Given the description of an element on the screen output the (x, y) to click on. 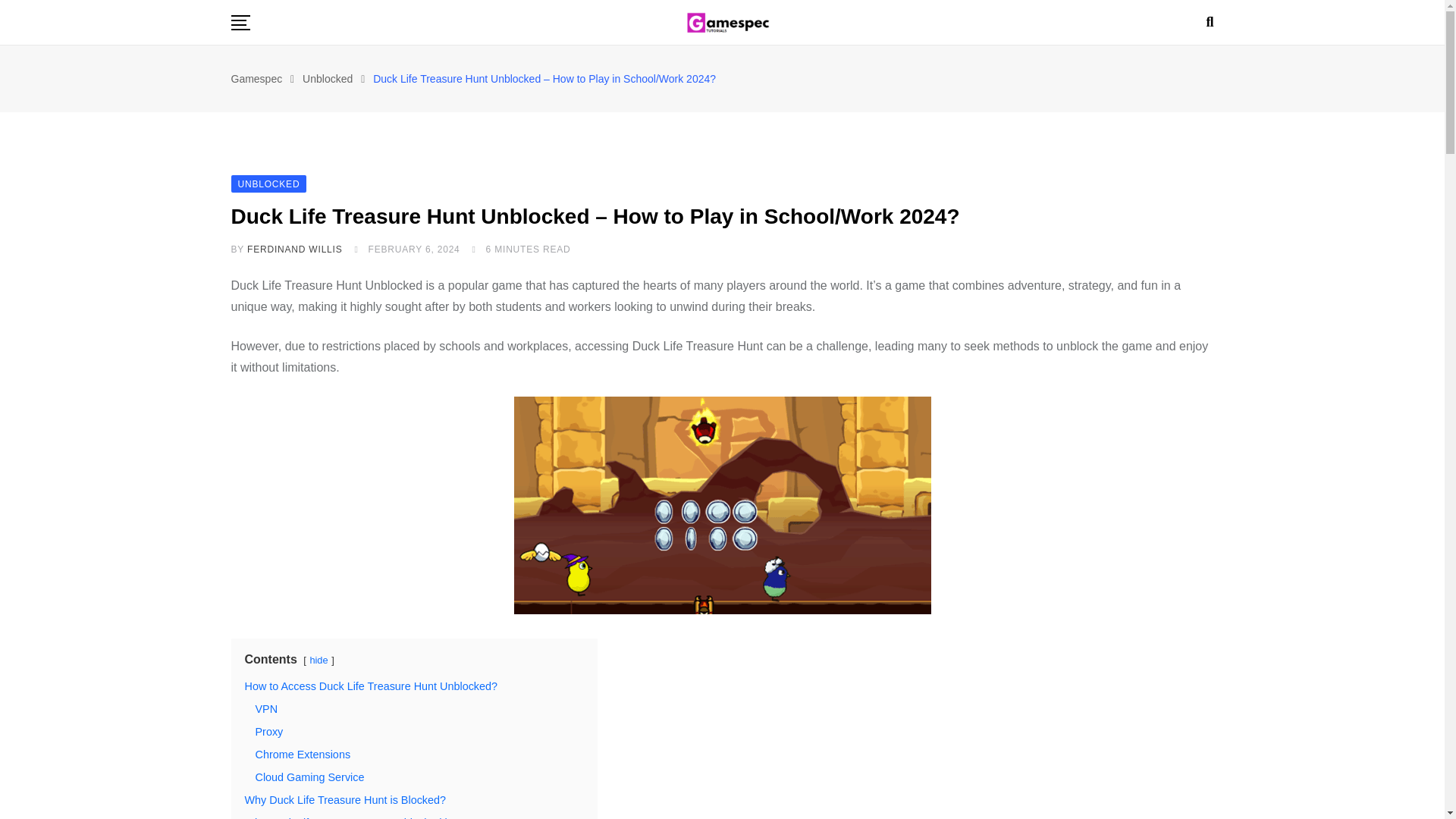
Gamespec (256, 78)
Go to the Unblocked Category archives. (327, 78)
Go to Gamespec. (256, 78)
